Given the description of an element on the screen output the (x, y) to click on. 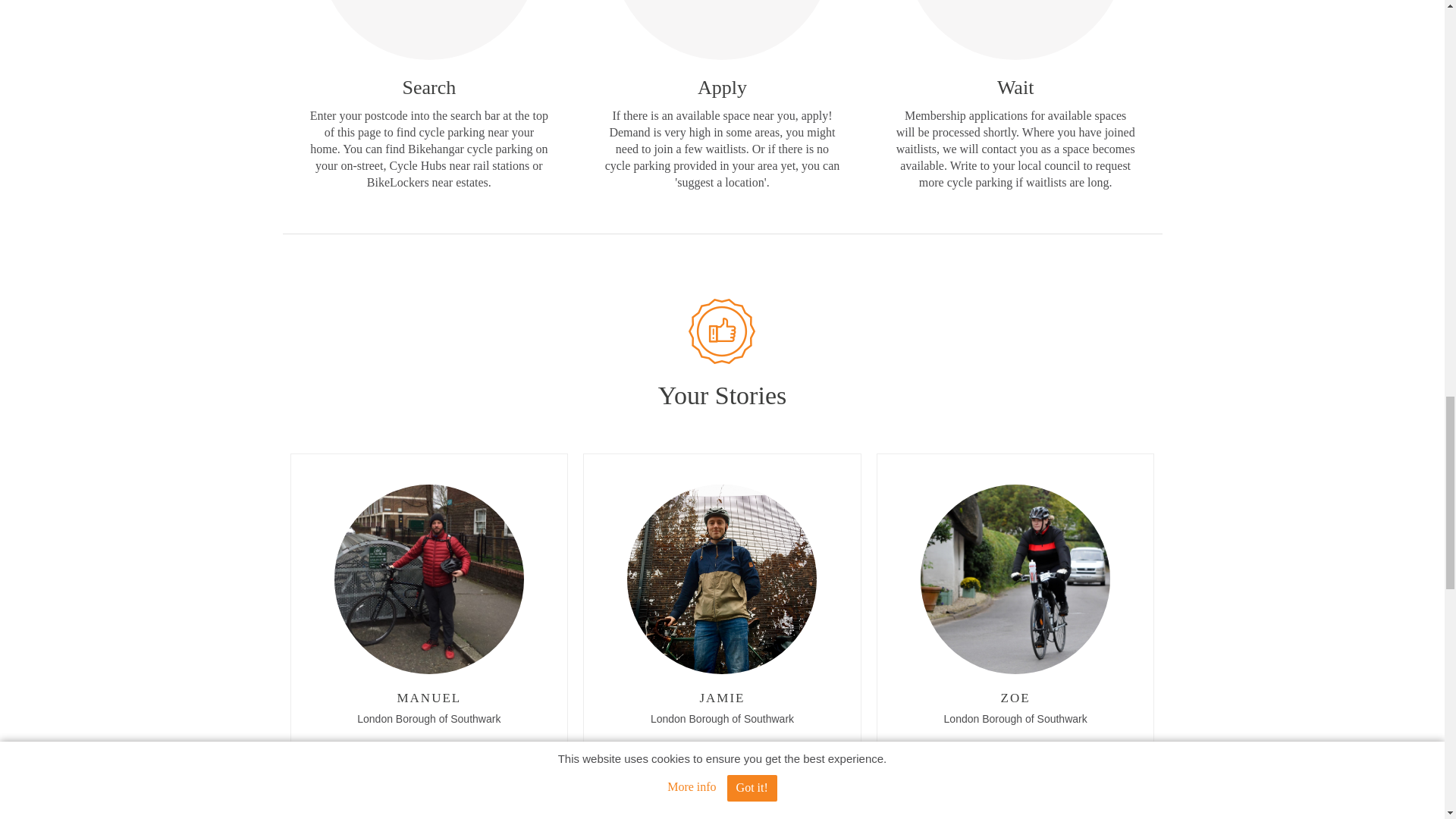
View story (429, 807)
View story (722, 807)
Zoe (933, 751)
Jamie (631, 751)
Manuel (352, 751)
View story (1015, 807)
